Given the description of an element on the screen output the (x, y) to click on. 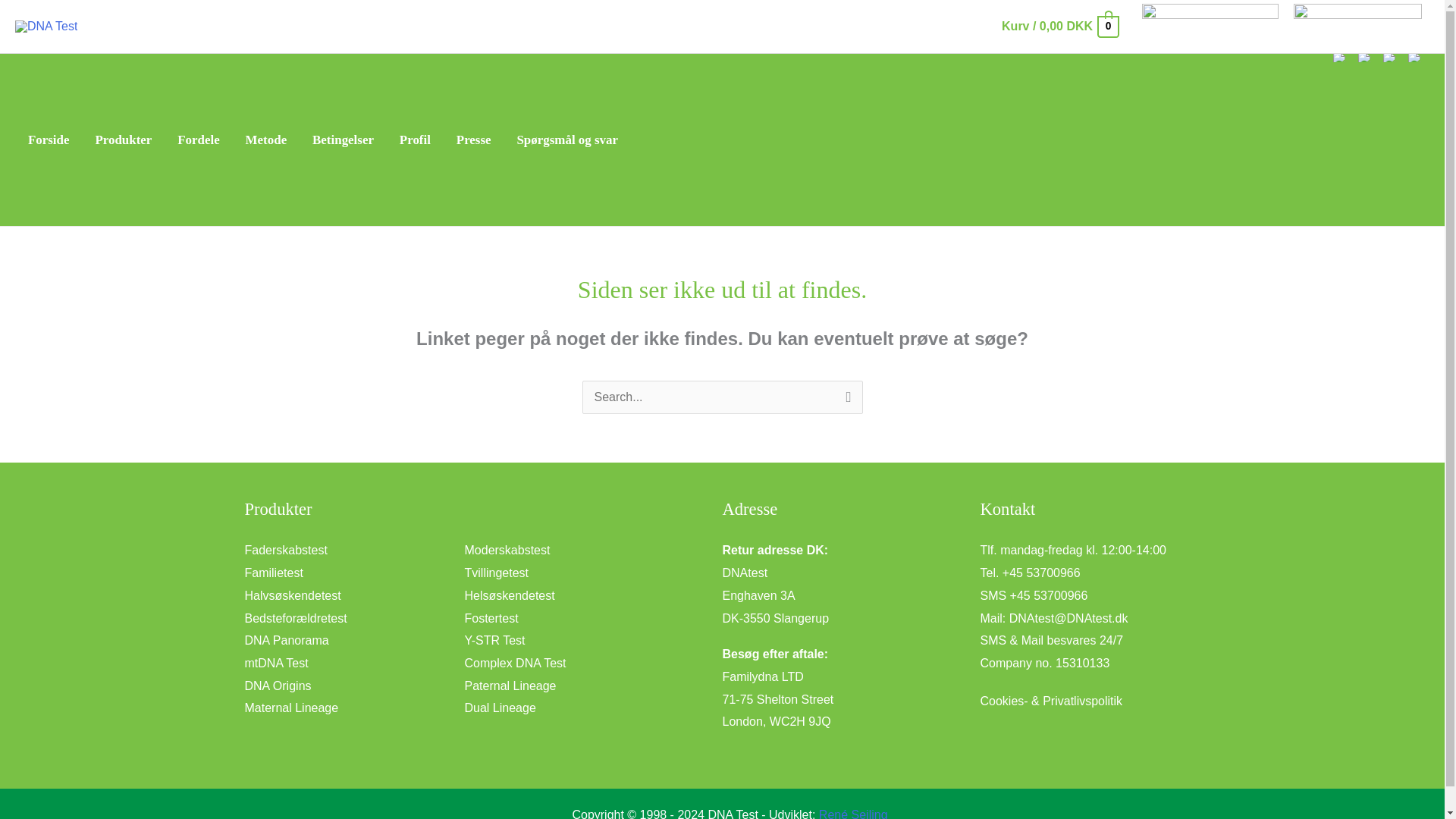
Tvillingetest (495, 572)
Presse (473, 139)
Moderskabstest (507, 549)
Familietest (273, 572)
Betingelser (343, 139)
Forside (47, 139)
Norwegian (1389, 57)
Profil (415, 139)
Metode (265, 139)
Danish (1339, 57)
